Given the description of an element on the screen output the (x, y) to click on. 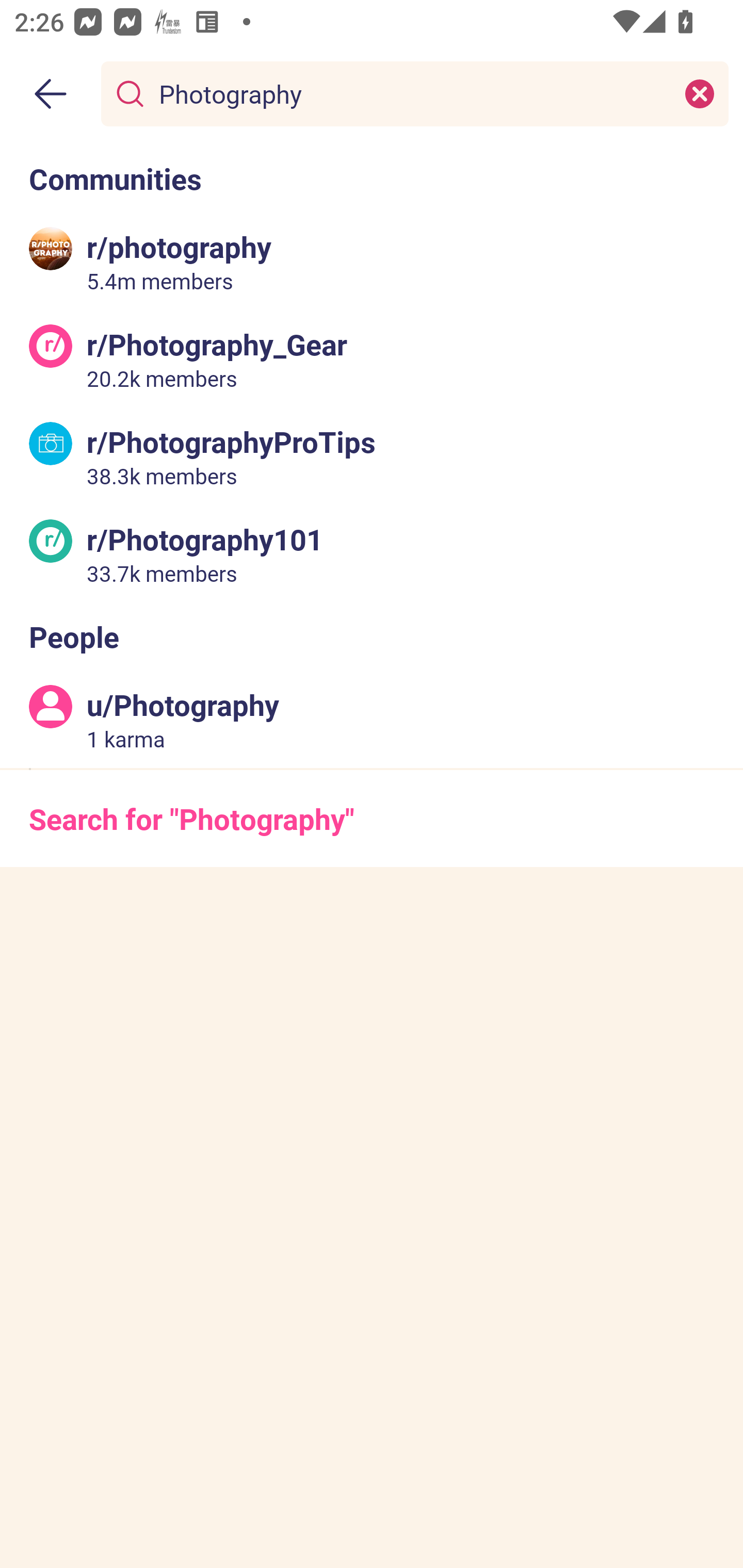
Back (50, 93)
Photography (410, 93)
Clear search (699, 93)
r/photography 5.4m members 5.4 million members (371, 261)
u/Photography 1 karma 1 karma (371, 719)
Search for "Photography" (371, 818)
